Given the description of an element on the screen output the (x, y) to click on. 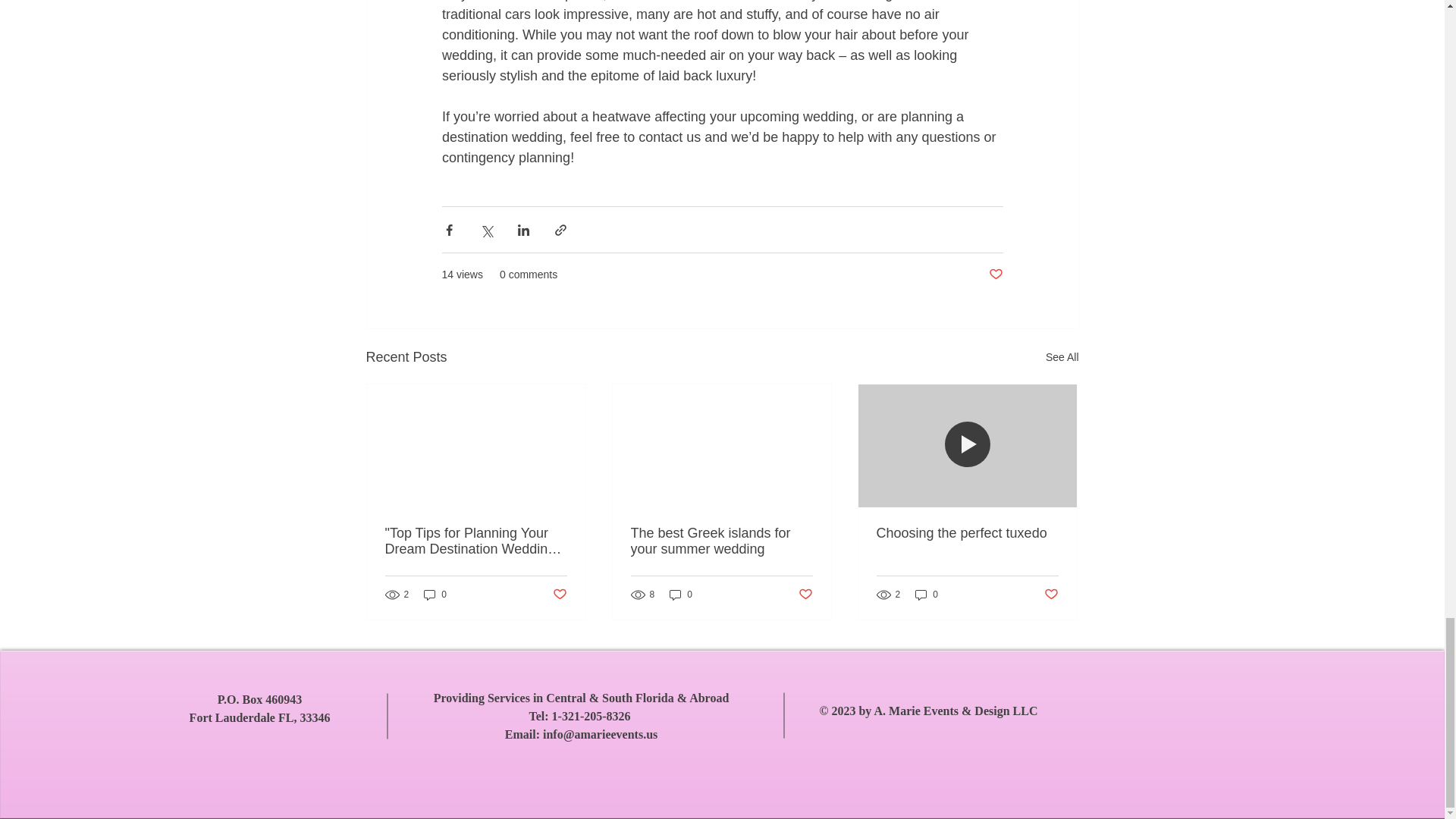
0 (681, 594)
The best Greek islands for your summer wedding (721, 541)
0 (926, 594)
See All (1061, 357)
Post not marked as liked (804, 594)
Post not marked as liked (558, 594)
0 (435, 594)
Post not marked as liked (995, 274)
Choosing the perfect tuxedo (967, 533)
